Given the description of an element on the screen output the (x, y) to click on. 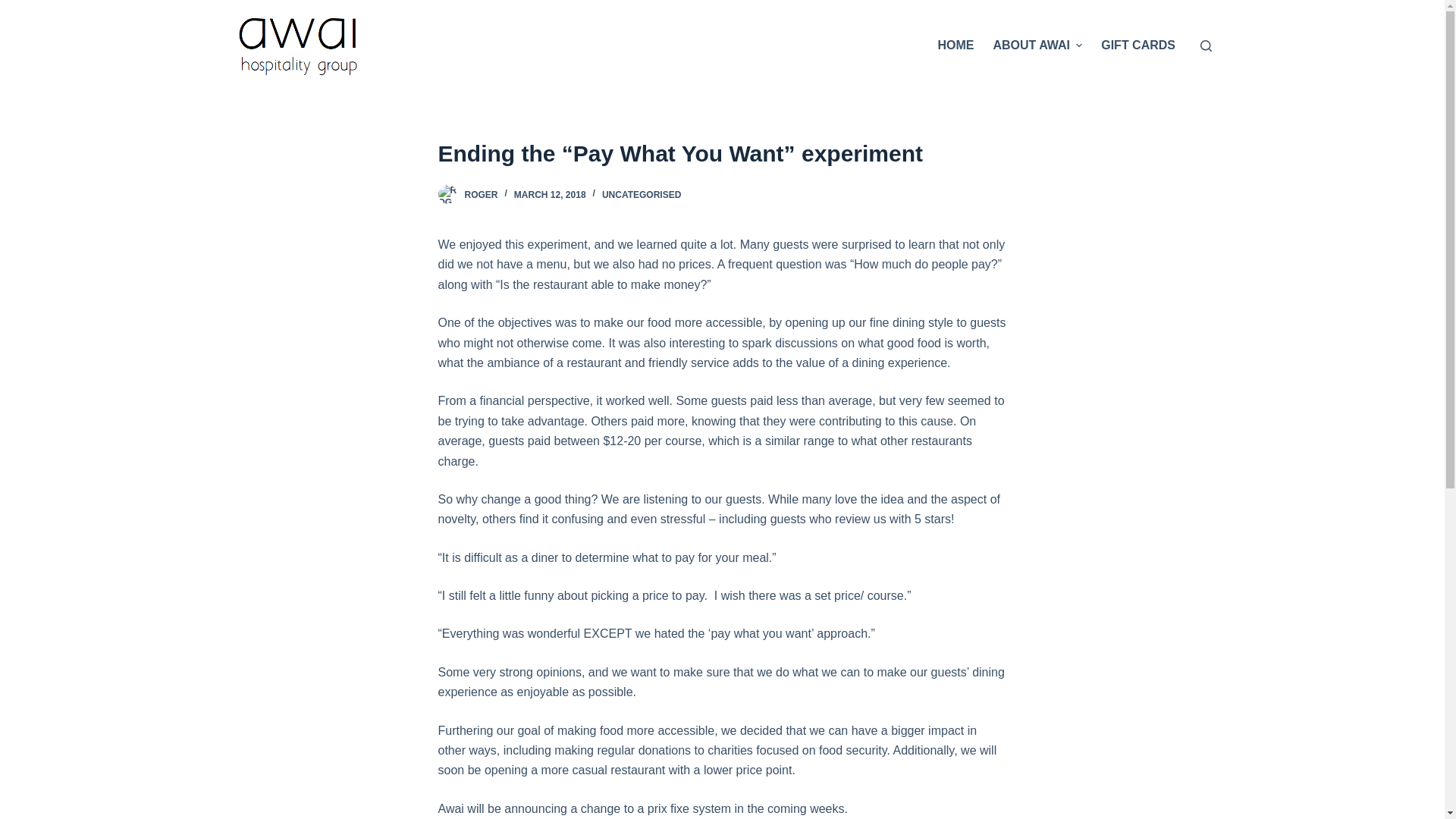
UNCATEGORISED Element type: text (641, 194)
ABOUT AWAI Element type: text (1037, 45)
HOME Element type: text (955, 45)
GIFT CARDS Element type: text (1138, 45)
Skip to content Element type: text (15, 7)
ROGER Element type: text (480, 194)
